Given the description of an element on the screen output the (x, y) to click on. 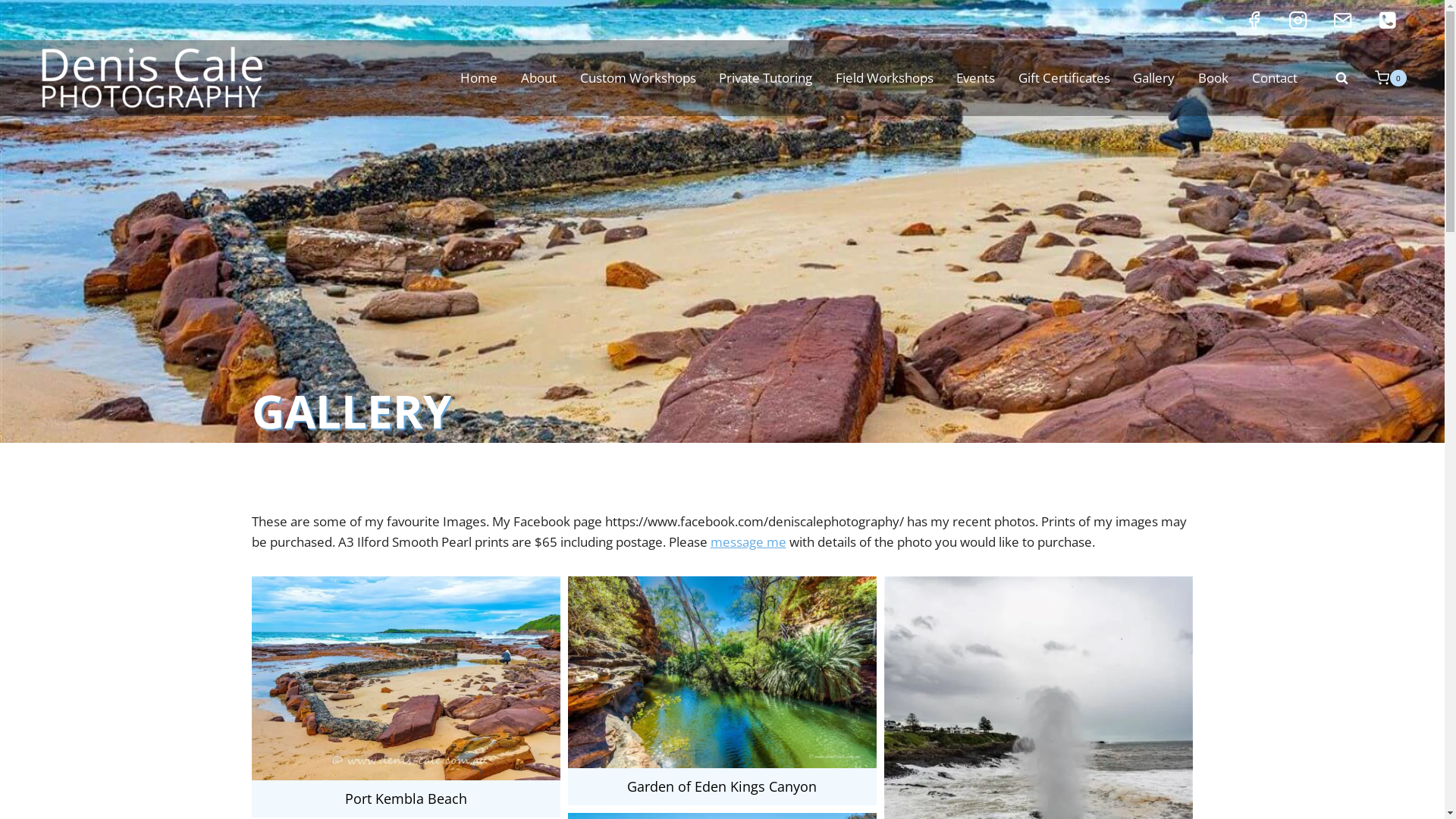
Port Kembla Beach Element type: text (405, 696)
Gallery Element type: text (1153, 77)
About Element type: text (538, 77)
Home Element type: text (478, 77)
Private Tutoring Element type: text (765, 77)
Book Element type: text (1213, 77)
Events Element type: text (975, 77)
message me Element type: text (747, 541)
Gift Certificates Element type: text (1064, 77)
Contact Element type: text (1273, 77)
Garden of Eden Kings Canyon Element type: text (721, 690)
0 Element type: text (1384, 77)
Field Workshops Element type: text (883, 77)
Custom Workshops Element type: text (637, 77)
